Given the description of an element on the screen output the (x, y) to click on. 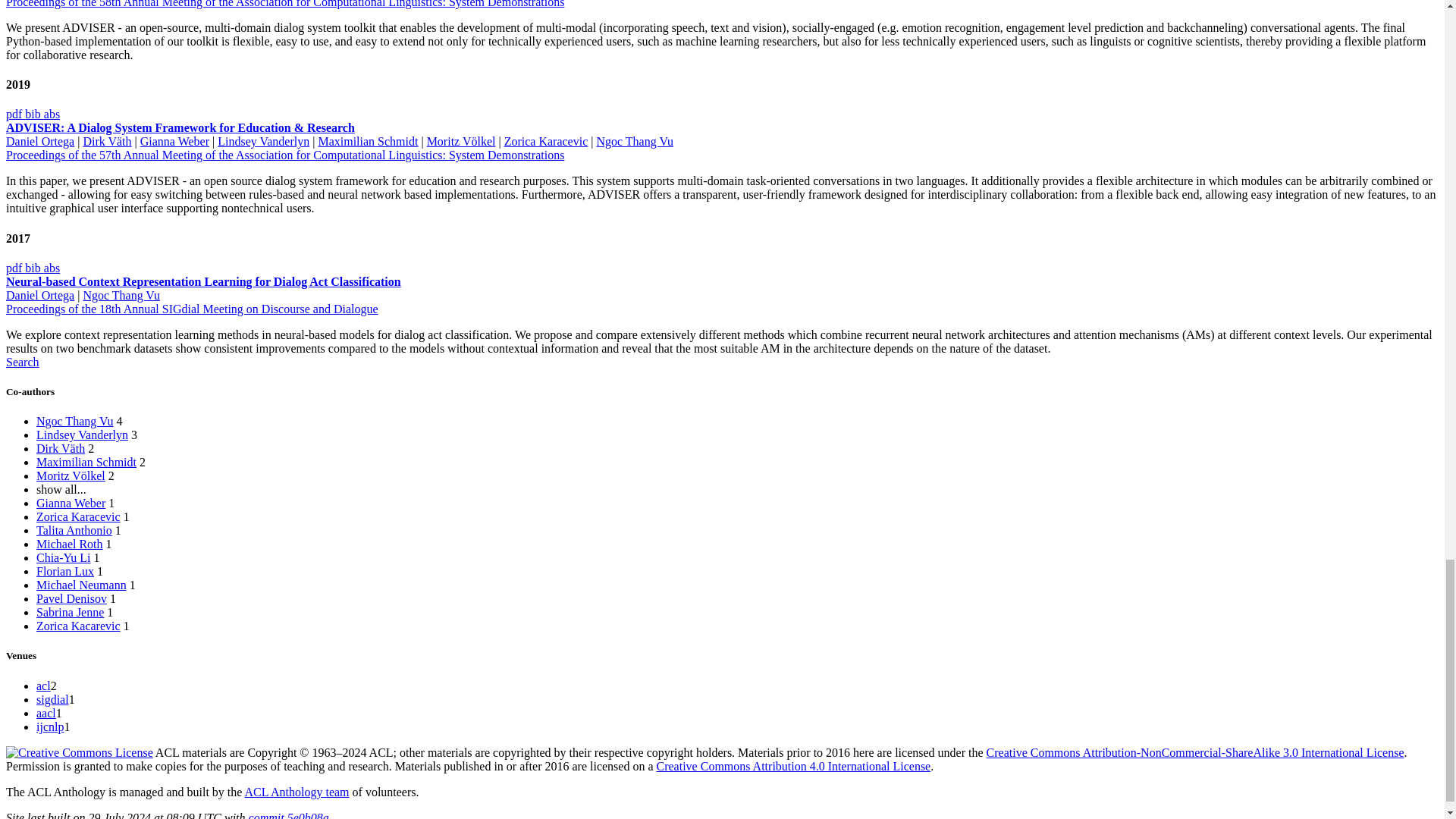
Show Abstract (51, 267)
abs (51, 113)
Open PDF (14, 113)
Open PDF (14, 267)
Search for 'Daniel Ortega' on Semantic Scholar (22, 361)
Export to BibTeX (33, 113)
bib (33, 113)
Show Abstract (51, 113)
pdf (14, 113)
Export to BibTeX (33, 267)
